Given the description of an element on the screen output the (x, y) to click on. 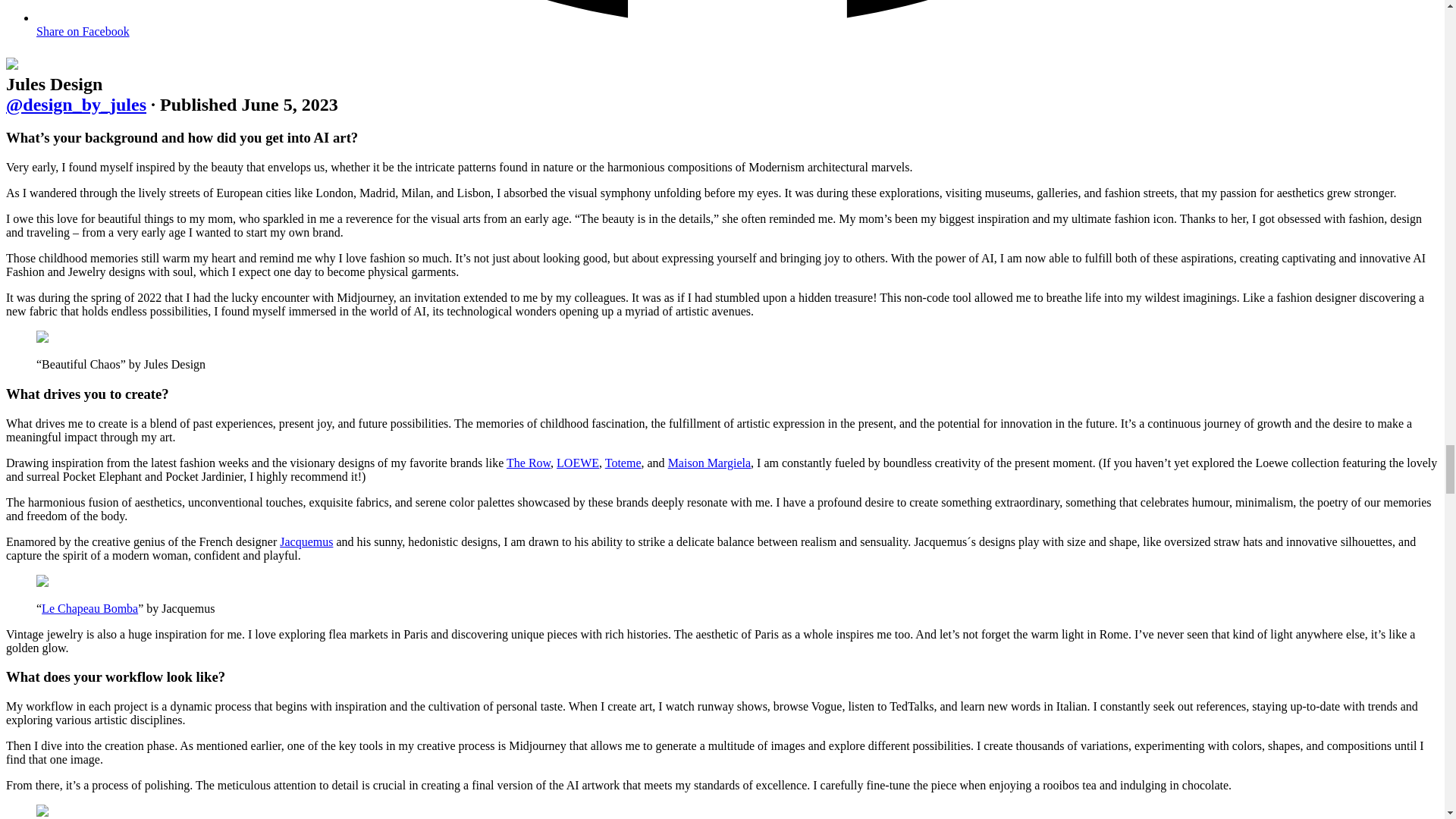
Jacquemus (306, 541)
Toteme (623, 462)
Maison Margiela (709, 462)
Le Chapeau Bomba (90, 608)
The Row (528, 462)
LOEWE (577, 462)
